Given the description of an element on the screen output the (x, y) to click on. 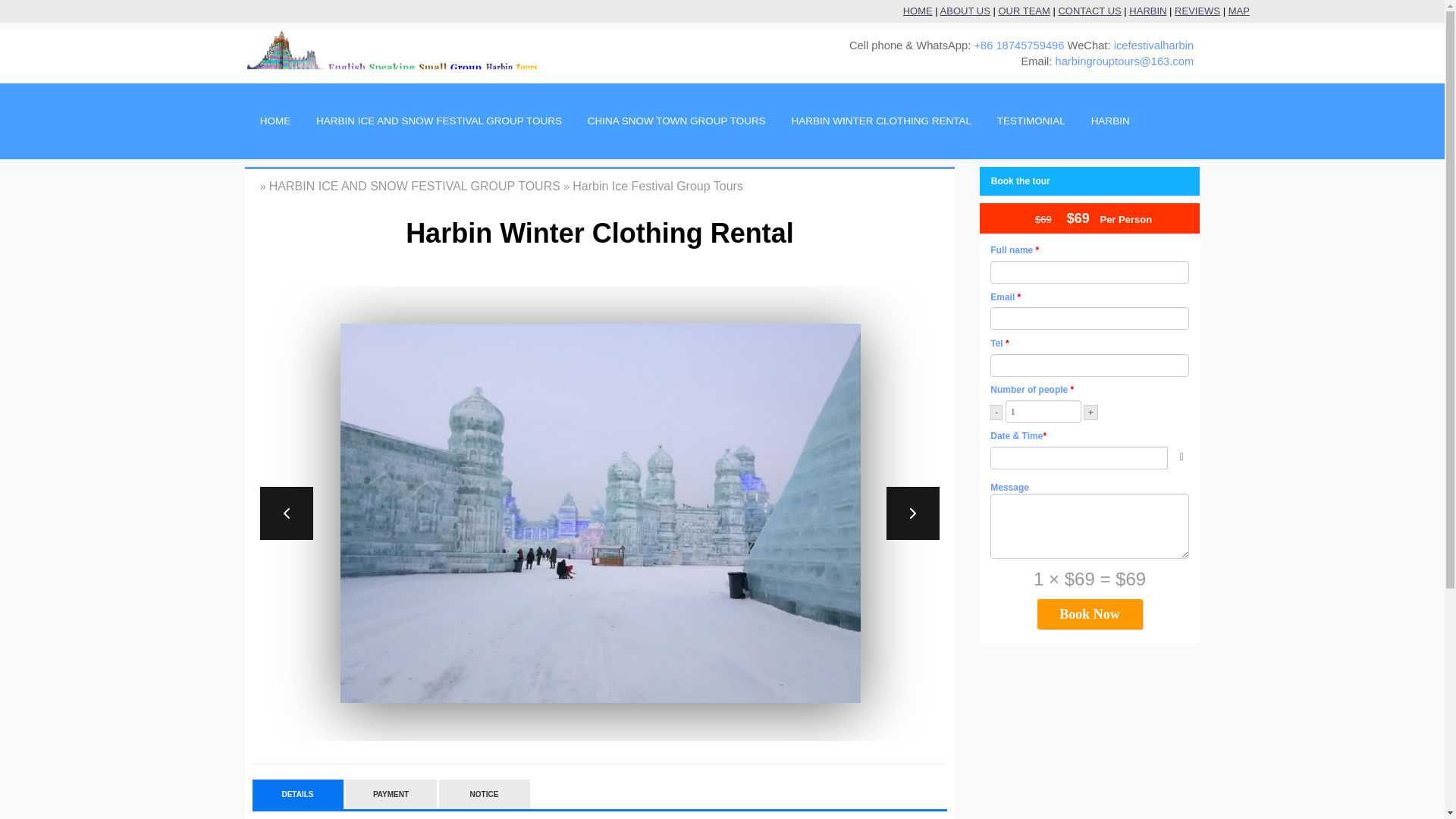
HARBIN WINTER CLOTHING RENTAL (878, 120)
PAYMENT (391, 794)
Book Now (1089, 613)
Book Now (1089, 613)
Harbin Ice Festival Group Tours (657, 185)
CHINA SNOW TOWN GROUP TOURS (673, 120)
REVIEWS (1197, 10)
HARBIN (1147, 10)
HARBIN (1107, 120)
TESTIMONIAL (1028, 120)
NOTICE (483, 794)
CONTACT US (1089, 10)
Next (912, 512)
Previous (286, 512)
1 (1043, 411)
